Given the description of an element on the screen output the (x, y) to click on. 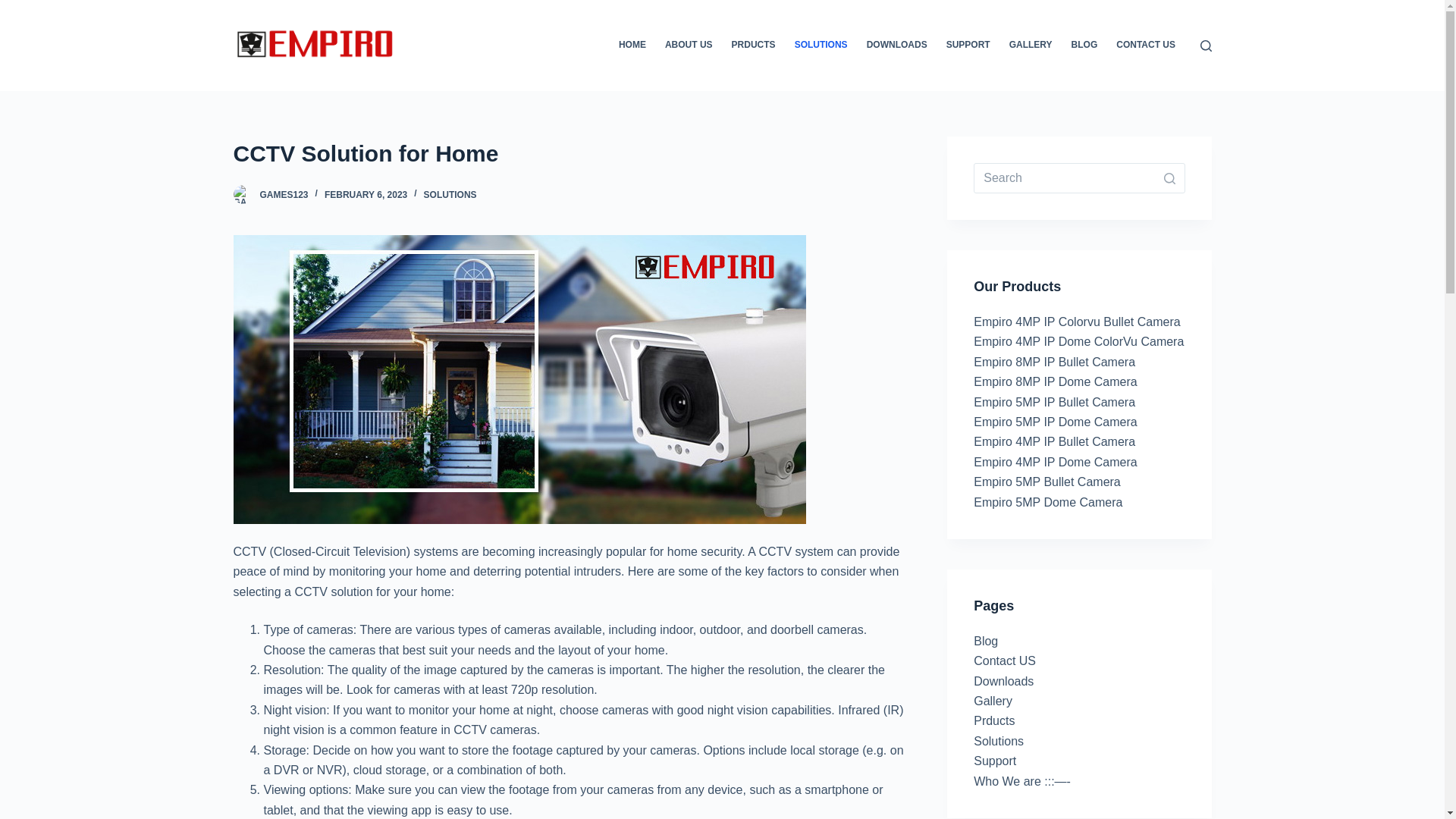
Skip to content (15, 7)
Empiro 4MP IP Dome ColorVu Camera (1078, 341)
Posts by games123 (283, 194)
CCTV Solution for Home (570, 153)
GAMES123 (283, 194)
Search for... (1079, 177)
Empiro 4MP IP Colorvu Bullet Camera (1076, 321)
SOLUTIONS (450, 194)
